Given the description of an element on the screen output the (x, y) to click on. 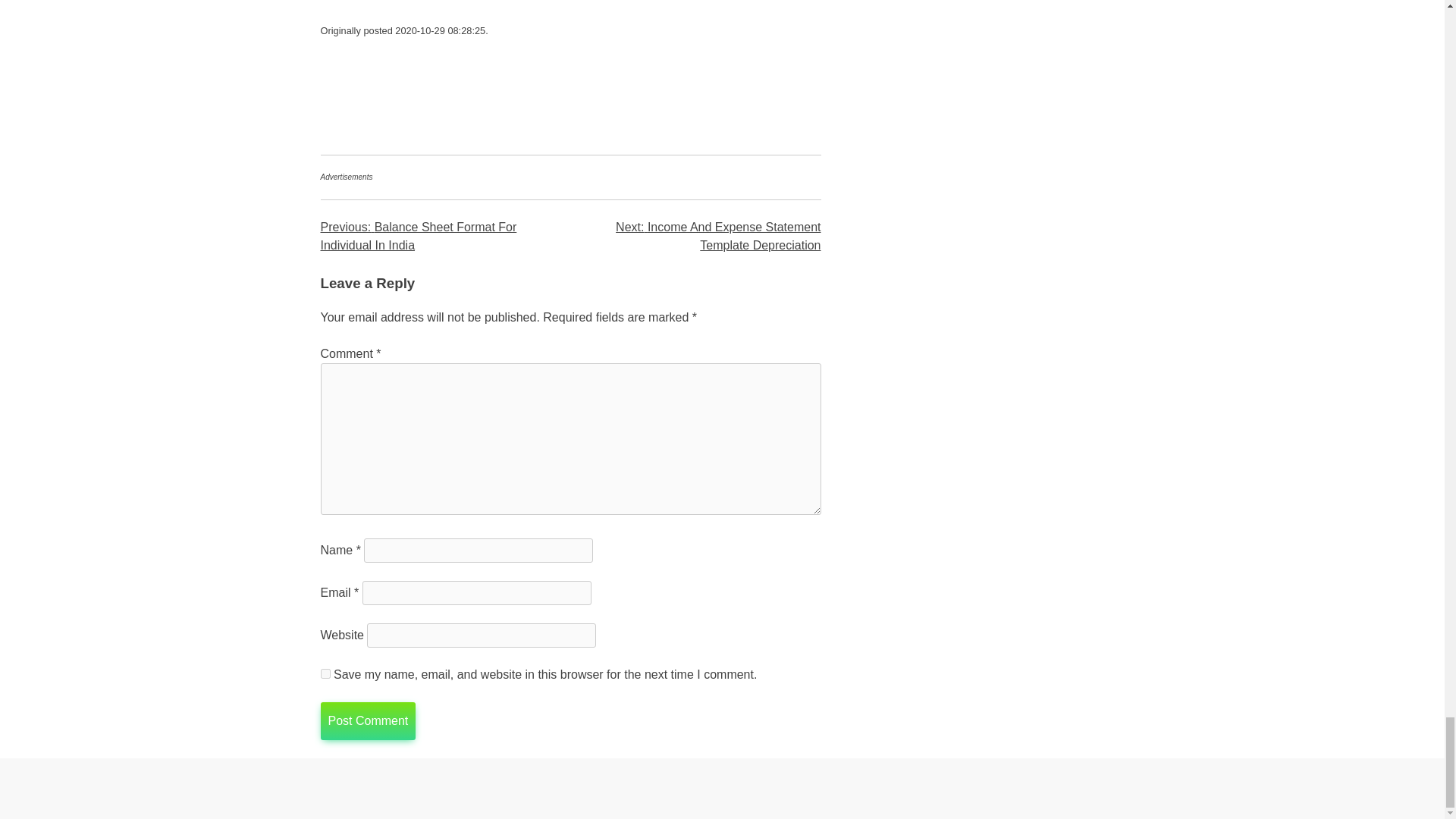
Next: Income And Expense Statement Template Depreciation (718, 235)
Post Comment (367, 720)
Previous: Balance Sheet Format For Individual In India (418, 235)
yes (325, 673)
Post Comment (367, 720)
